Given the description of an element on the screen output the (x, y) to click on. 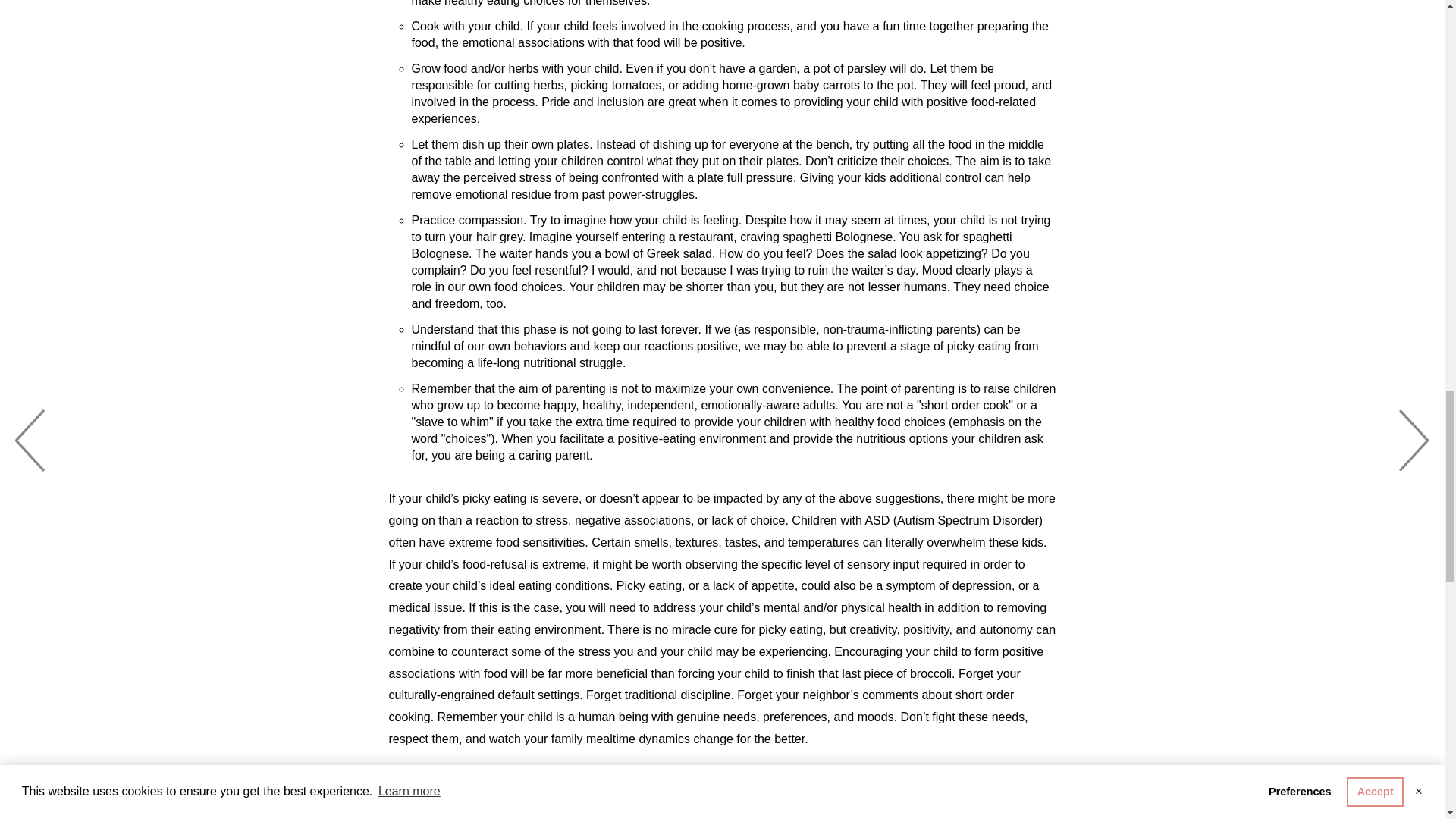
Share this on Pinterest (560, 791)
Tweet (418, 791)
Share this on Facebook (491, 791)
Email this to a friend (628, 791)
Share (491, 791)
Share this on Twitter (418, 791)
